Given the description of an element on the screen output the (x, y) to click on. 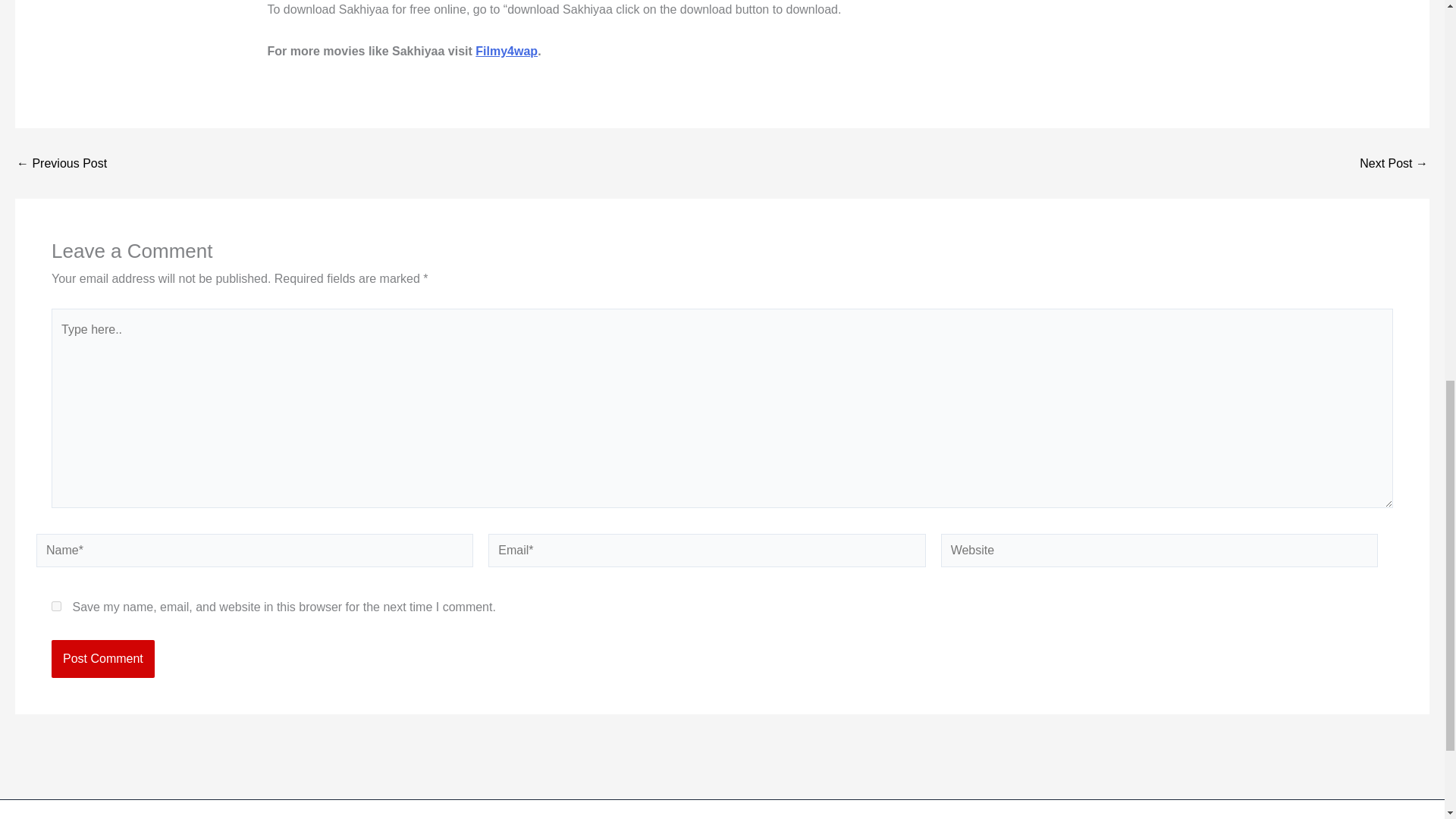
Veduka (1393, 163)
Filmy4wap (506, 51)
Prema Lokam (61, 163)
Filmy4wap (506, 51)
Post Comment (102, 658)
Post Comment (102, 658)
yes (55, 605)
